Given the description of an element on the screen output the (x, y) to click on. 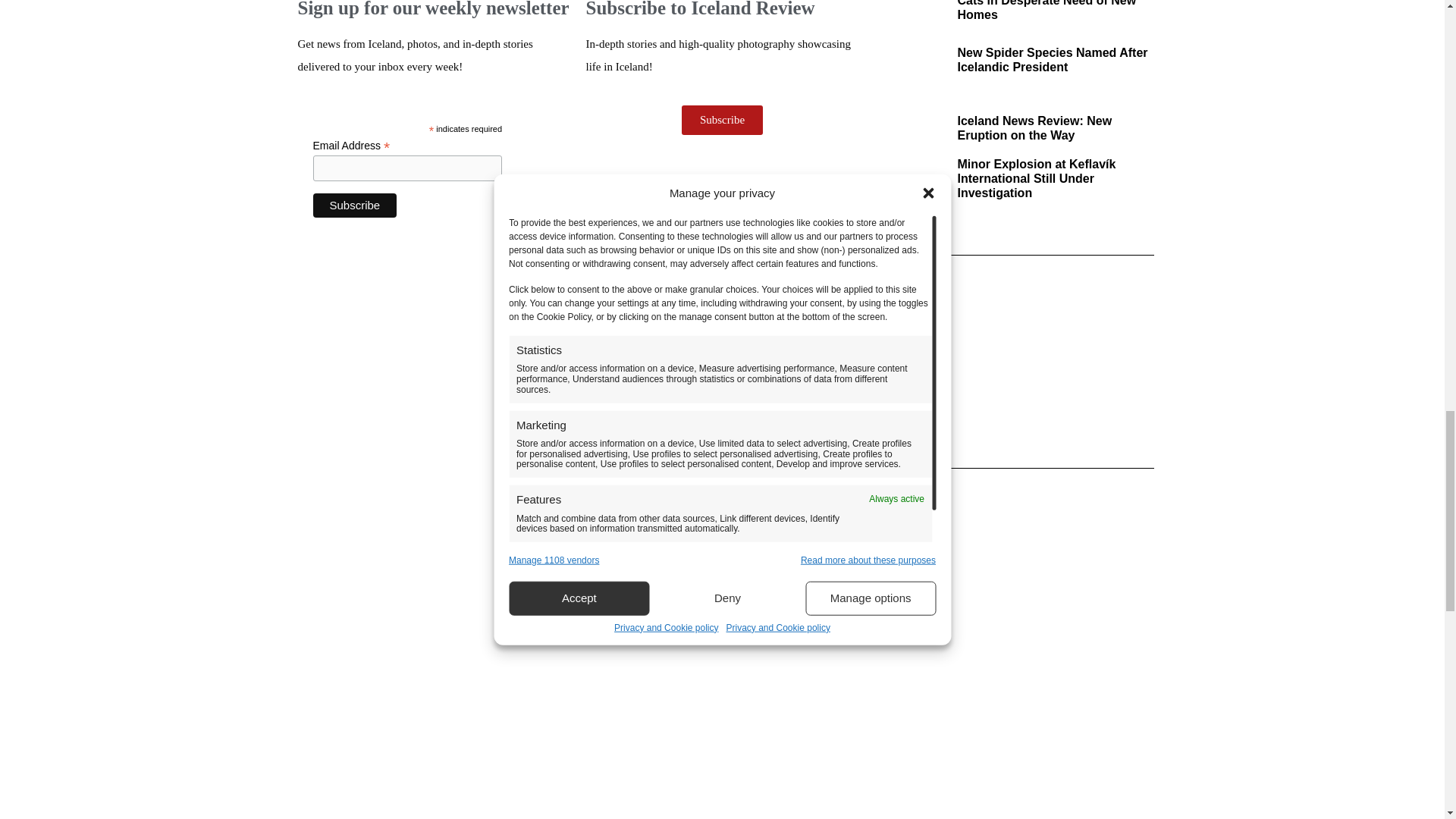
Cats in Desperate Need of New Homes (1045, 10)
Subscribe (354, 205)
New Spider Species Named After Icelandic President (1051, 59)
Iceland News Review: New Eruption on the Way (1034, 127)
